Given the description of an element on the screen output the (x, y) to click on. 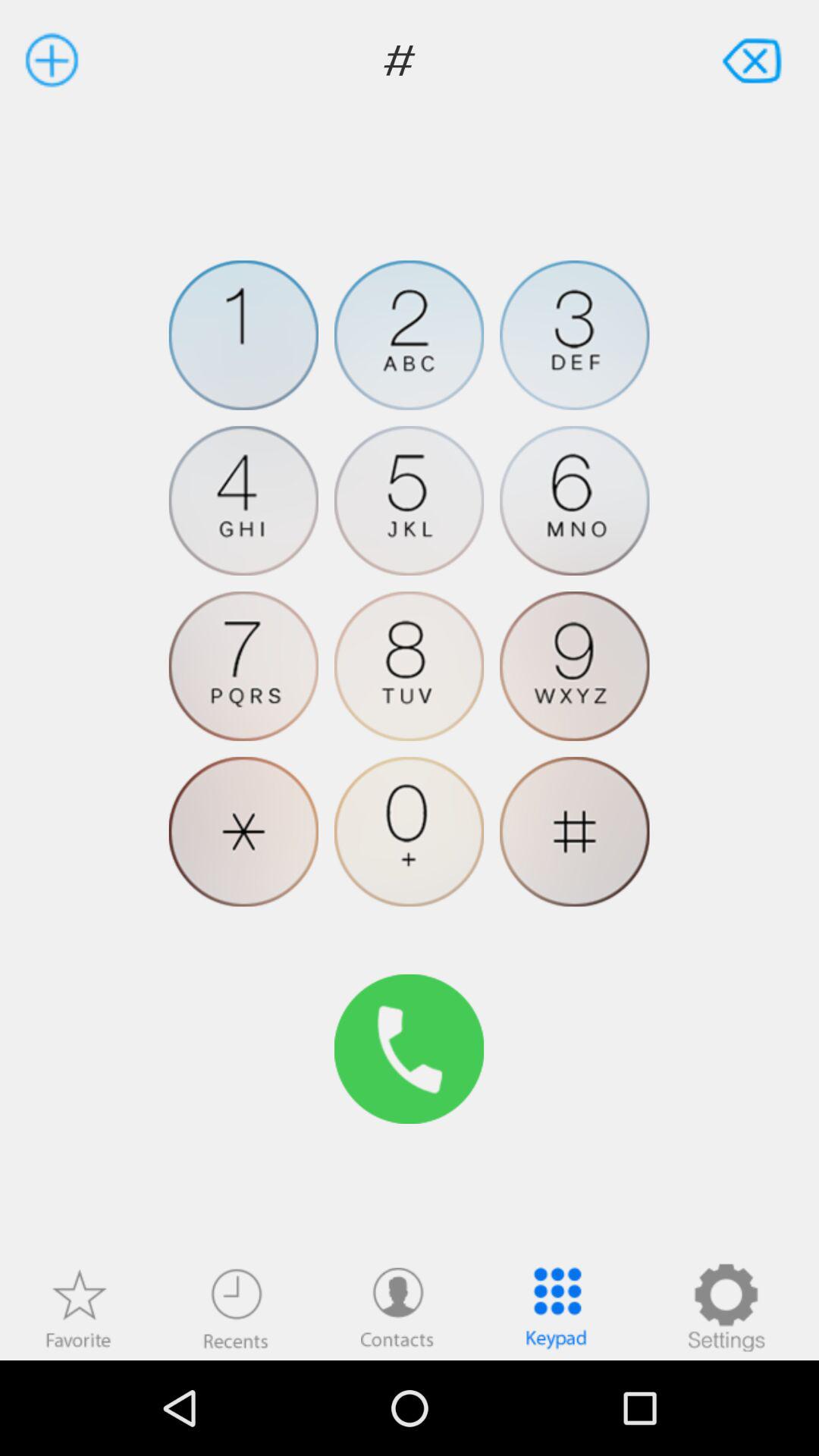
recent calls (235, 1307)
